Given the description of an element on the screen output the (x, y) to click on. 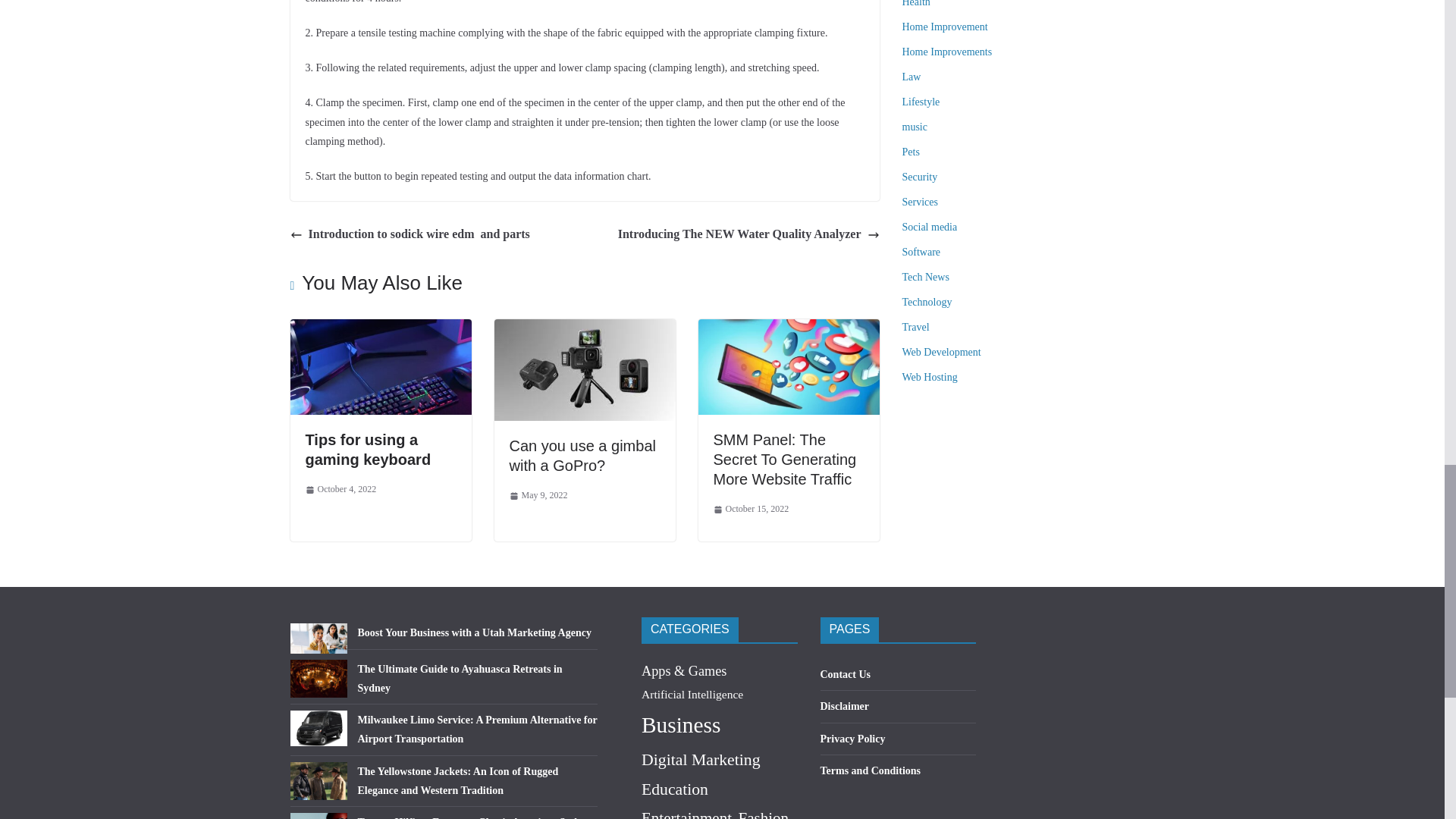
Tips for using a gaming keyboard (379, 328)
Can you use a gimbal with a GoPro? (582, 455)
Introduction to sodick wire edm  and parts (409, 234)
Introducing The NEW Water Quality Analyzer (748, 234)
Can you use a gimbal with a GoPro? (585, 328)
October 4, 2022 (339, 489)
2:24 PM (339, 489)
Tips for using a gaming keyboard (367, 449)
Tips for using a gaming keyboard (367, 449)
